Given the description of an element on the screen output the (x, y) to click on. 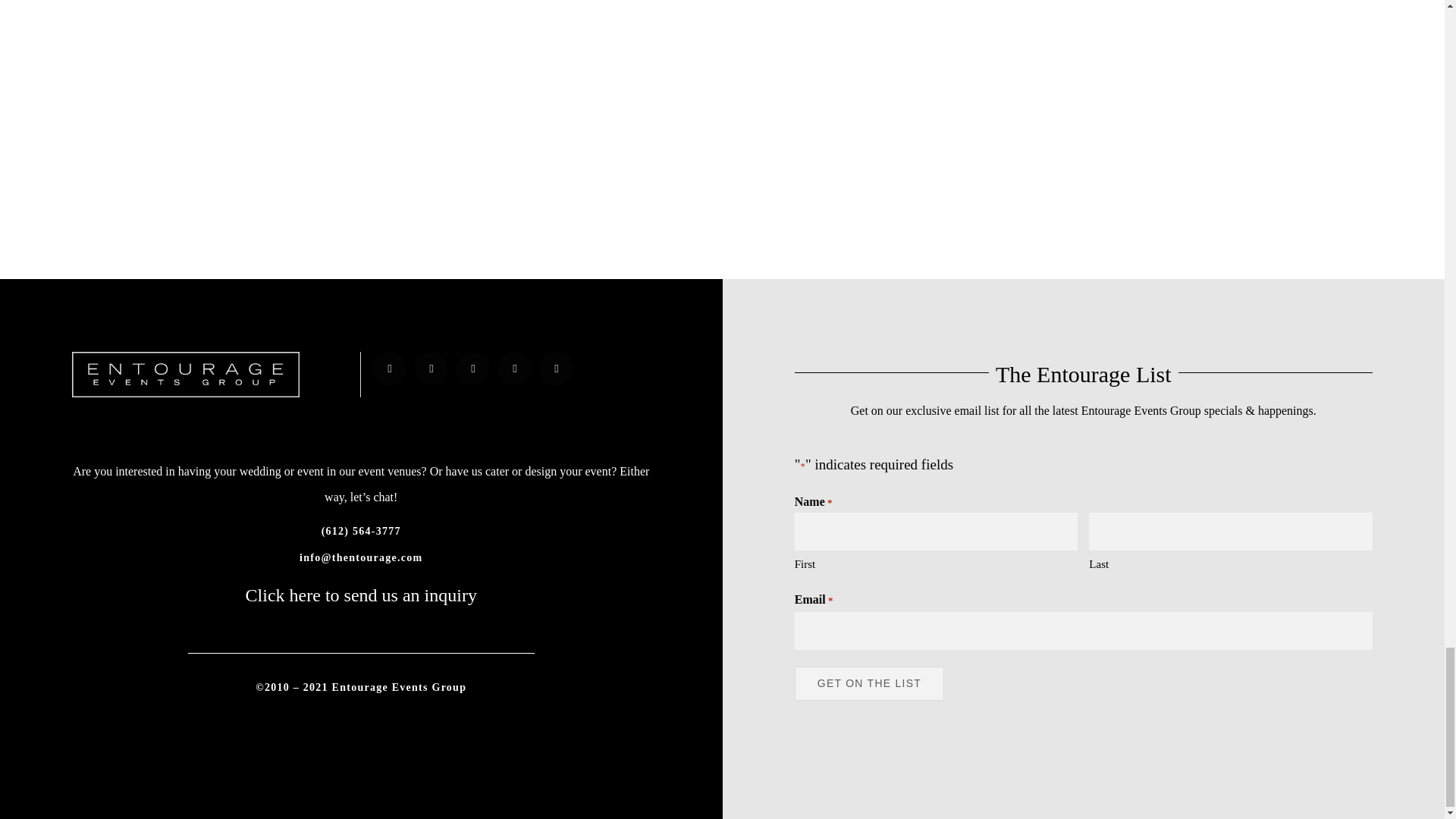
Instagram (430, 368)
Flickr (555, 368)
LinkedIn (514, 368)
entourage-logo-84px-white (185, 375)
Pinterest (472, 368)
Facebook (389, 368)
GET ON THE LIST (868, 683)
